Given the description of an element on the screen output the (x, y) to click on. 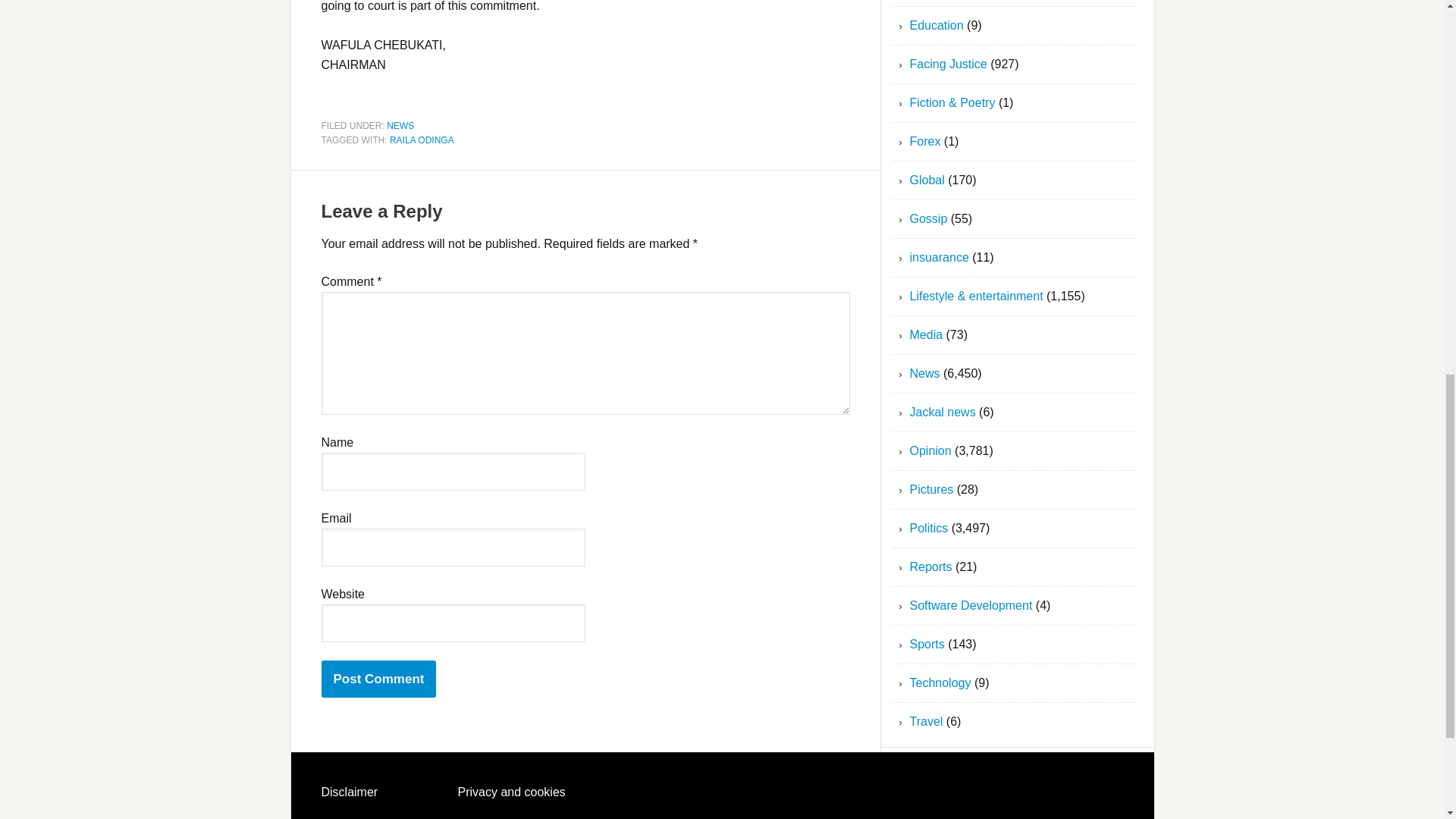
News (925, 373)
Education (936, 24)
Opinion (931, 450)
Pictures (931, 489)
Politics (929, 527)
Jackal news (942, 411)
Media (926, 334)
NEWS (400, 124)
RAILA ODINGA (422, 140)
Facing Justice (948, 63)
